Given the description of an element on the screen output the (x, y) to click on. 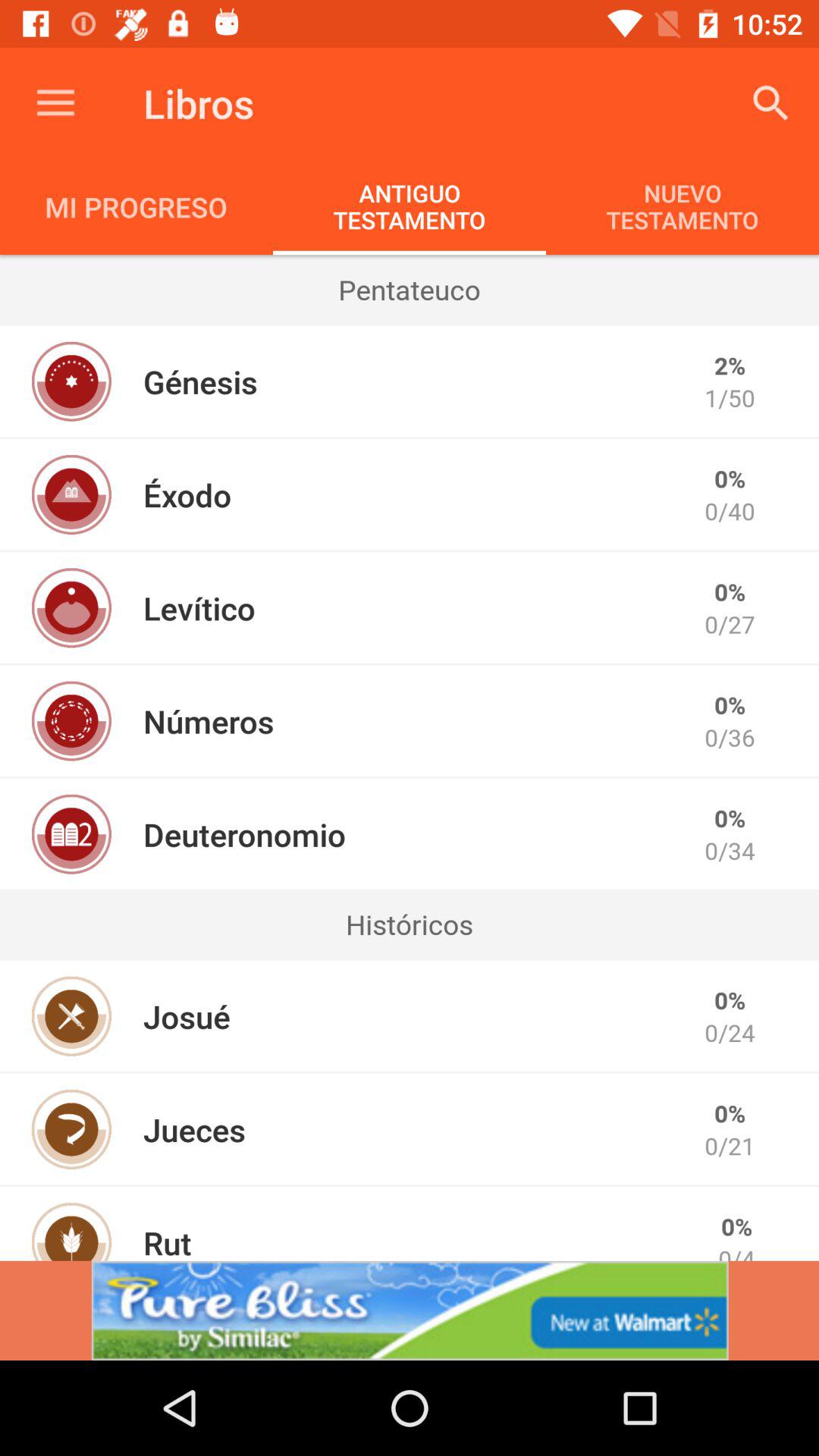
choose the item to the left of the 1/50 (200, 381)
